Given the description of an element on the screen output the (x, y) to click on. 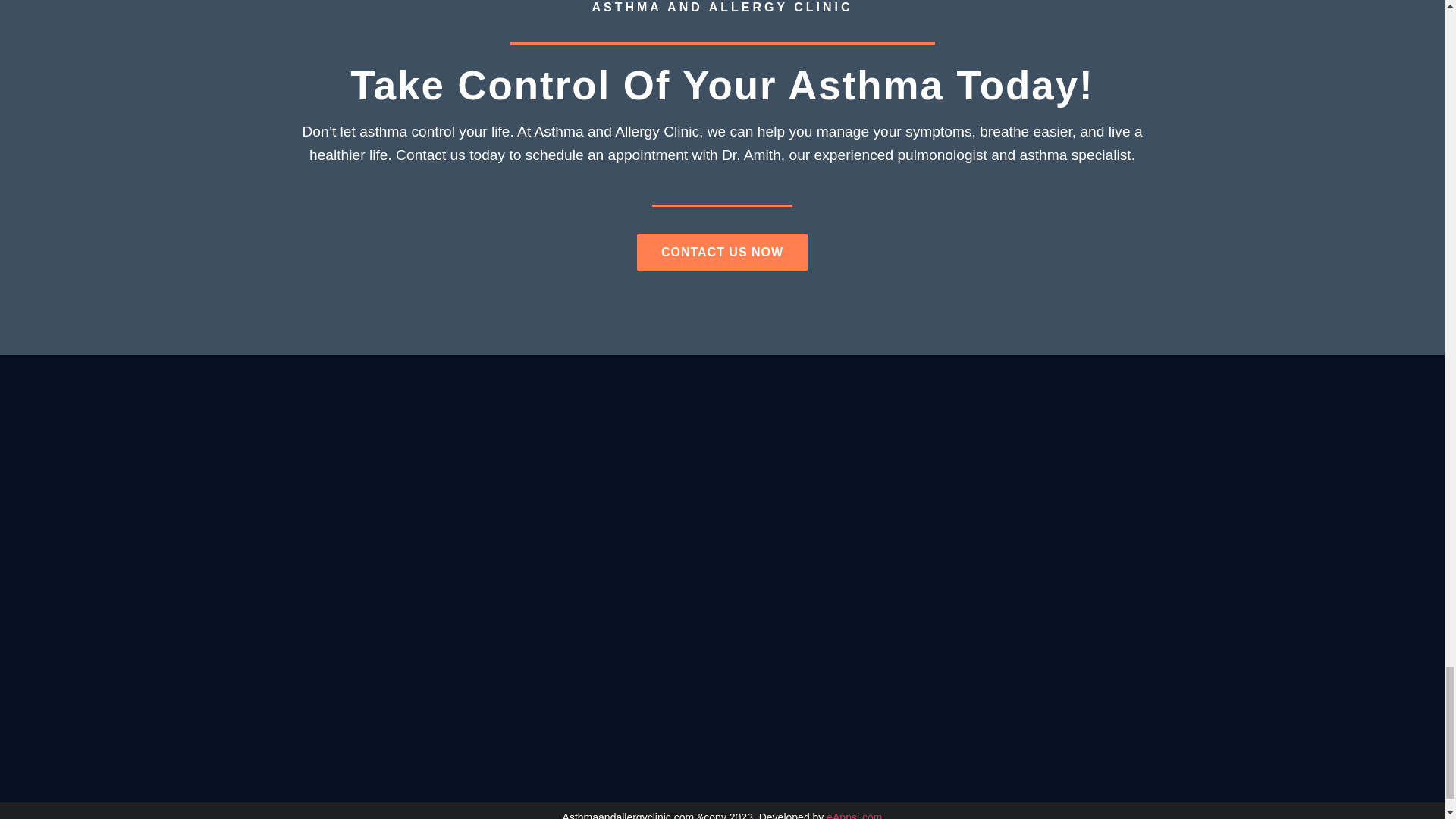
eAppsi.com (854, 815)
CONTACT US NOW (722, 252)
